Given the description of an element on the screen output the (x, y) to click on. 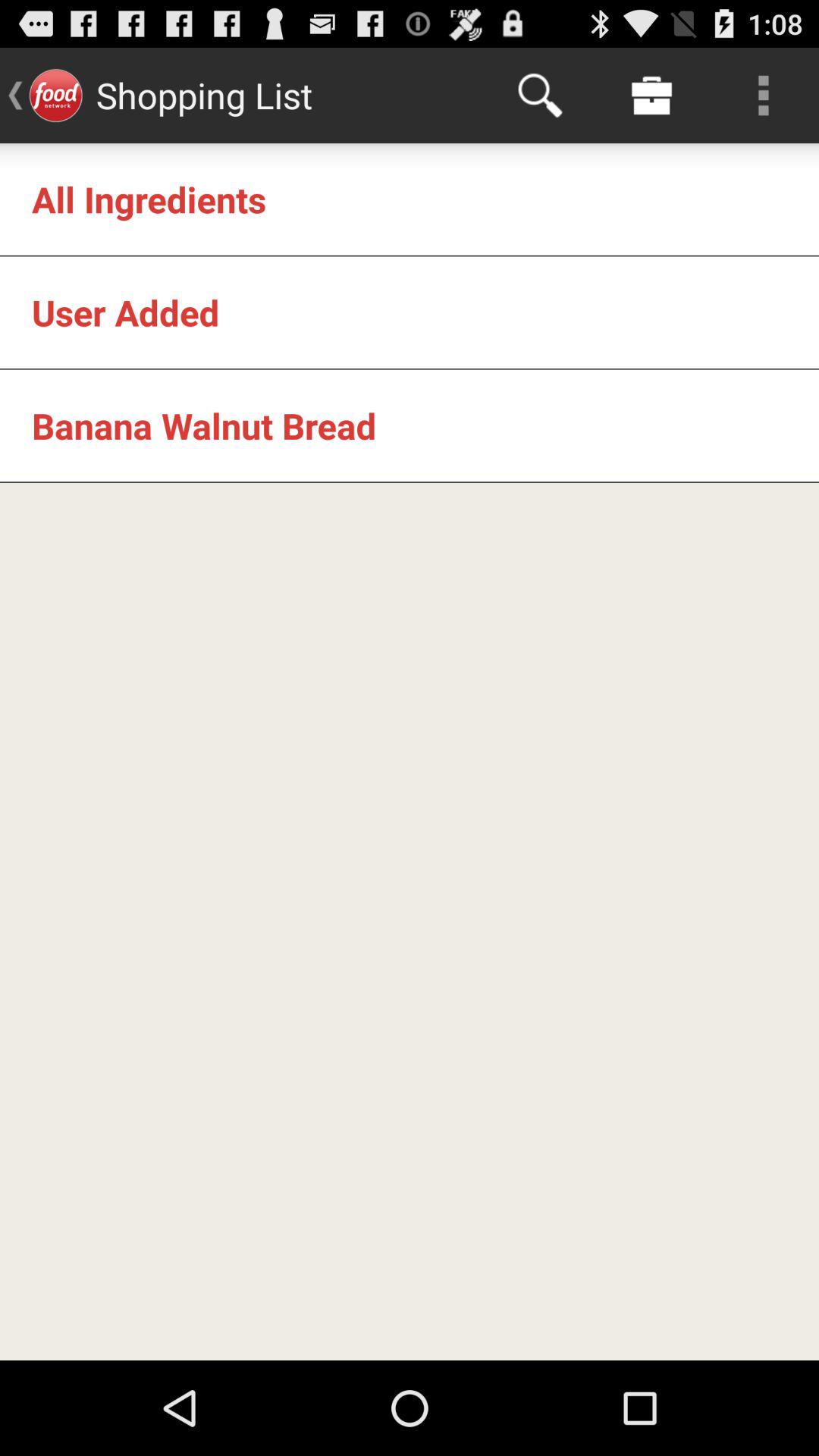
turn on banana walnut bread (203, 425)
